Given the description of an element on the screen output the (x, y) to click on. 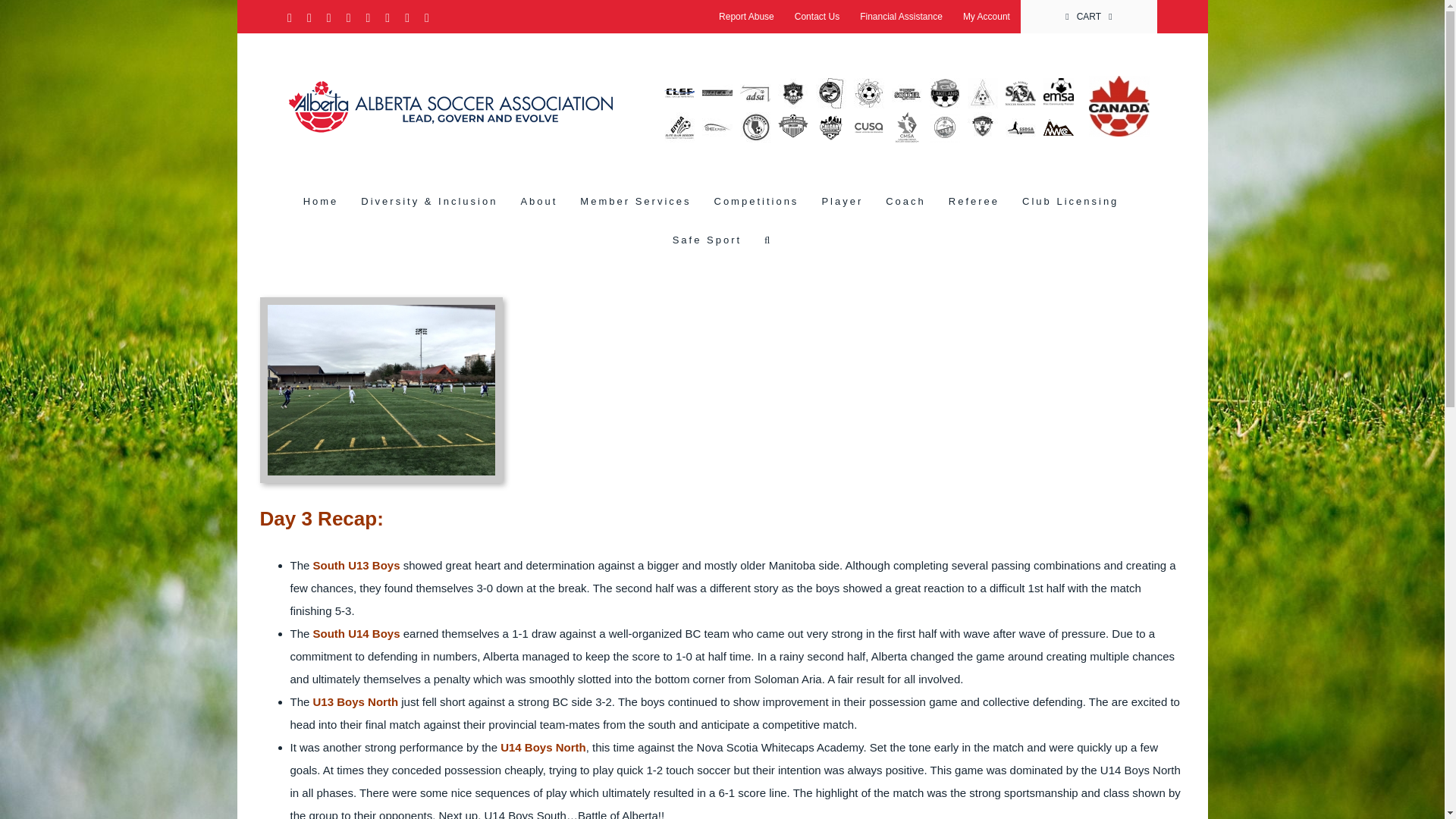
Log In (1034, 168)
Twitter (289, 18)
LinkedIn (387, 18)
Email (406, 18)
CART (1088, 16)
Report Abuse (746, 16)
Instagram (328, 18)
Facebook (309, 18)
Rss (427, 18)
Flickr (348, 18)
Contact Us (816, 16)
YouTube (367, 18)
Financial Assistance (901, 16)
My Account (986, 16)
